Given the description of an element on the screen output the (x, y) to click on. 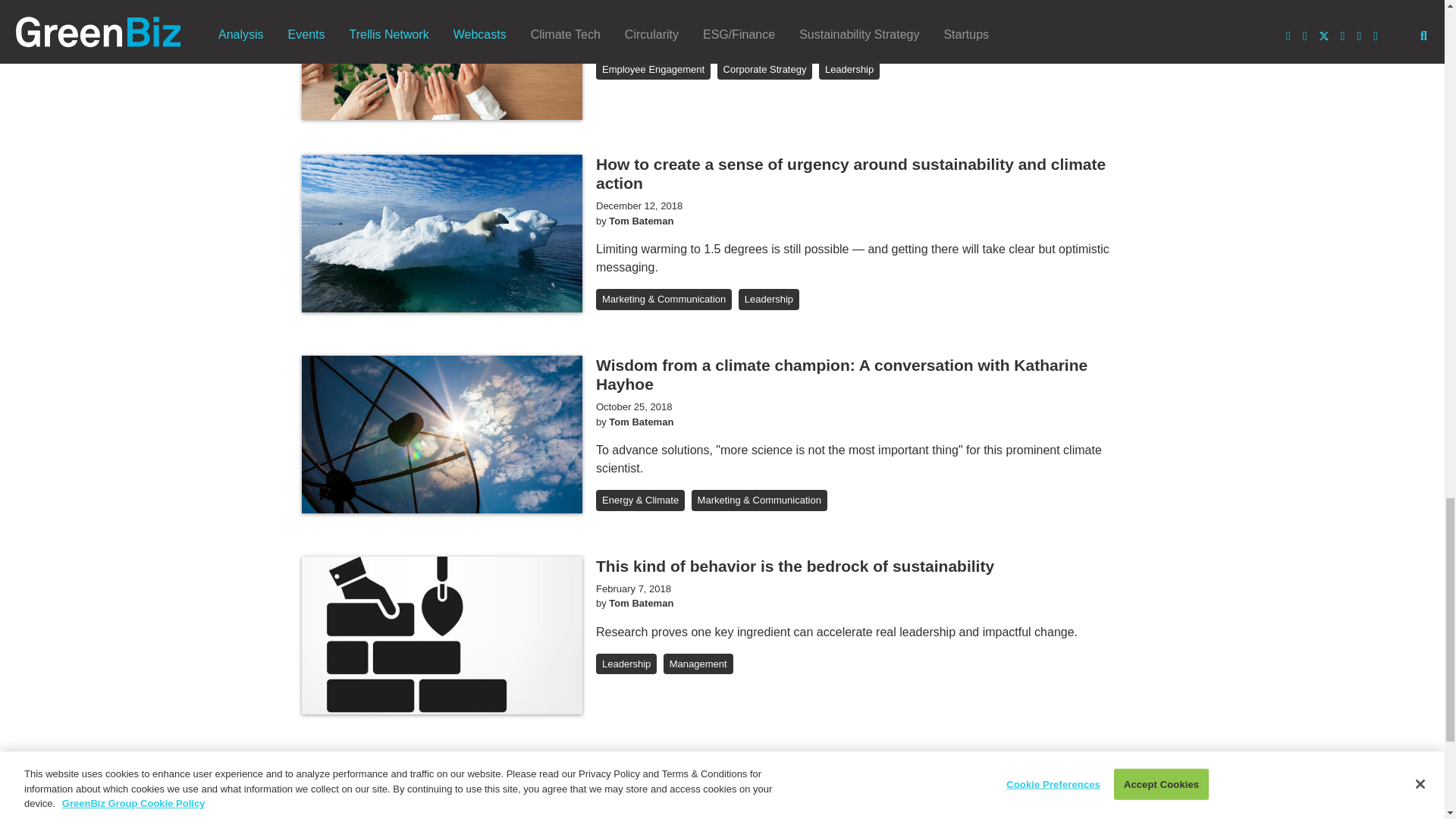
Information on GreenBiz Peer Network Offerings (617, 809)
About GreenBiz Group (406, 809)
